Given the description of an element on the screen output the (x, y) to click on. 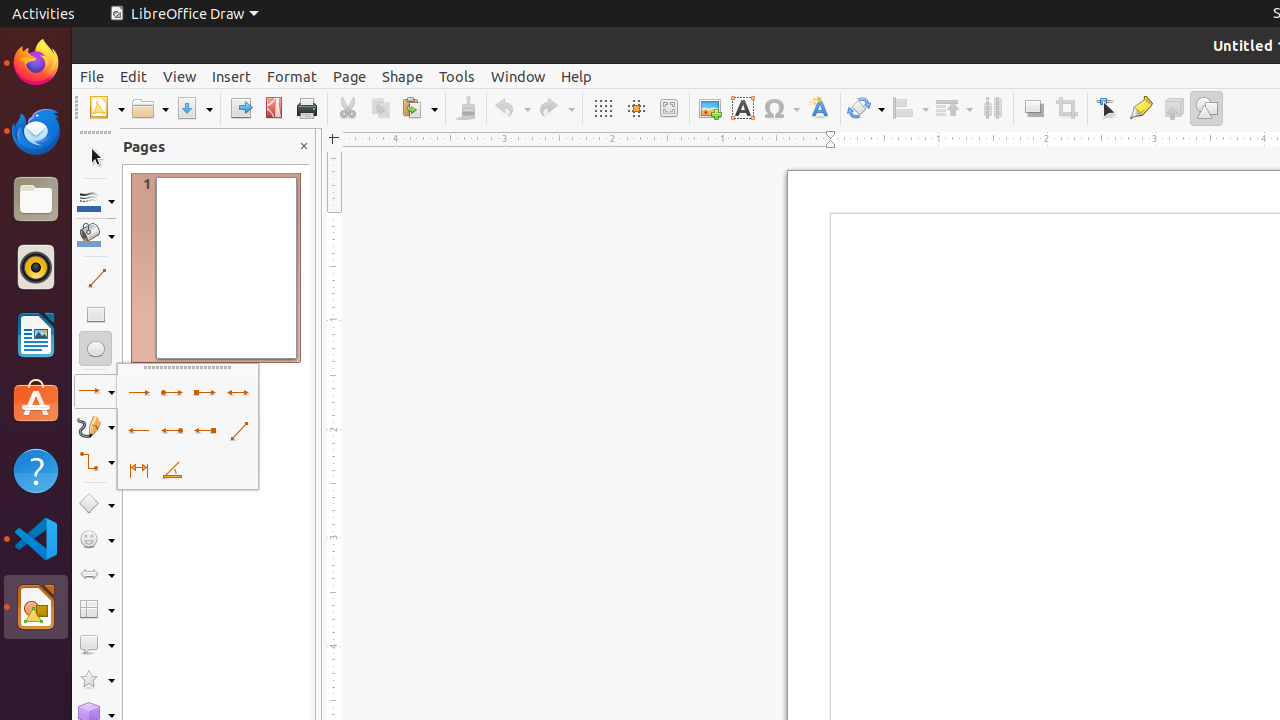
PDF Element type: push-button (273, 108)
Undo Element type: push-button (512, 108)
Draw Functions Element type: toggle-button (1206, 108)
Helplines While Moving Element type: toggle-button (635, 108)
Glue Points Element type: push-button (1140, 108)
